Given the description of an element on the screen output the (x, y) to click on. 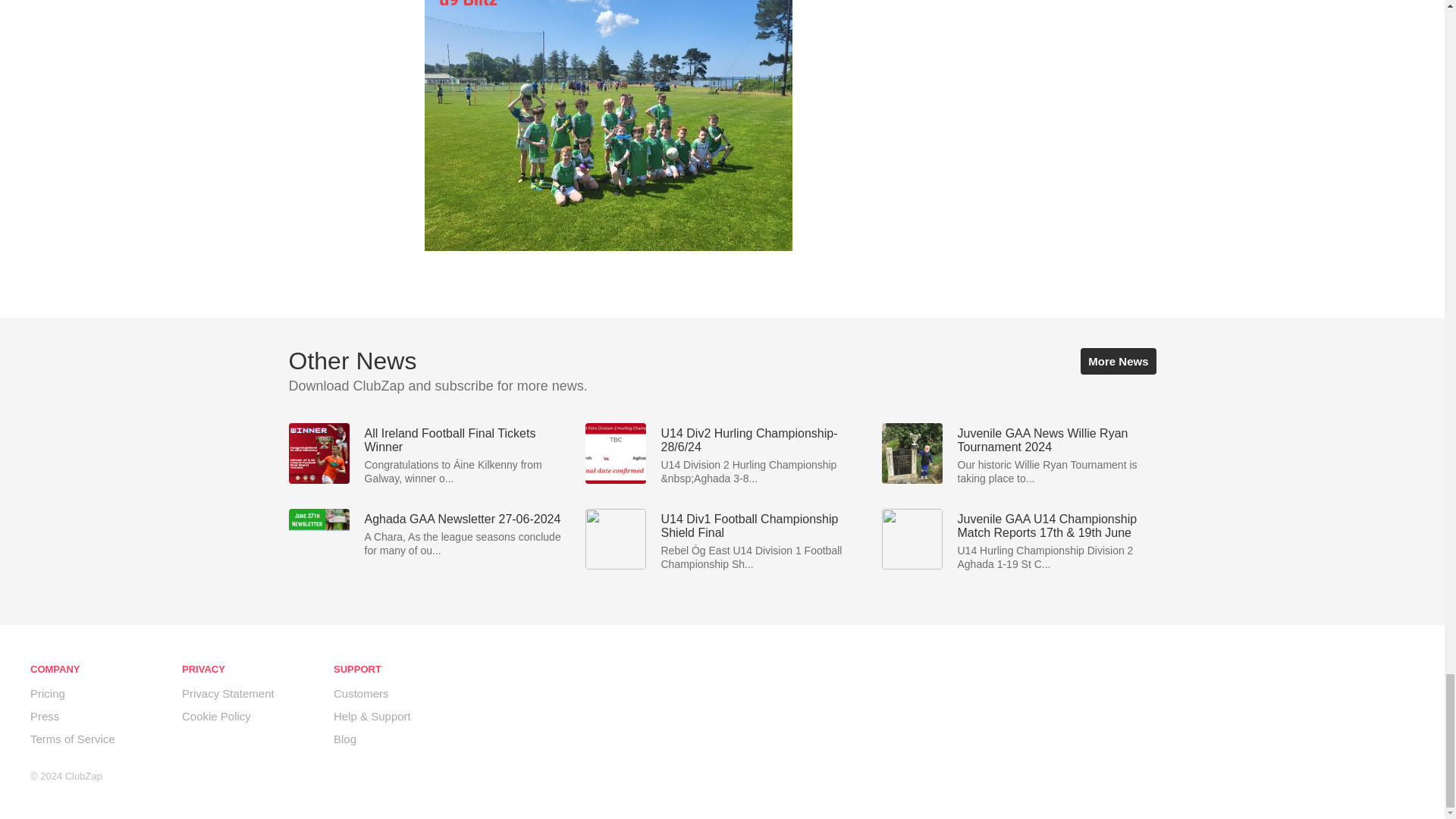
More News (1118, 361)
Cookie Policy (216, 715)
Privacy Statement (228, 693)
Press (44, 715)
Pricing (47, 693)
Terms of Service (72, 738)
Blog (344, 738)
Customers (360, 693)
